Given the description of an element on the screen output the (x, y) to click on. 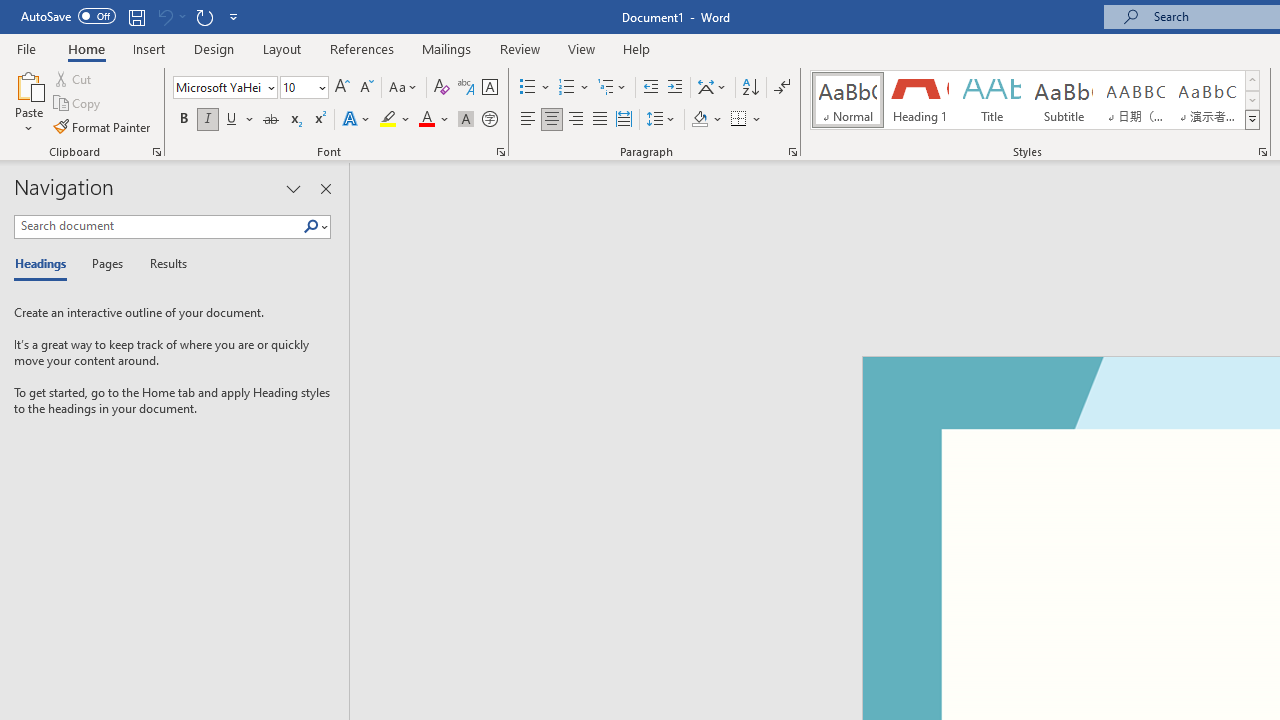
Font Color Red (426, 119)
Repeat Doc Close (204, 15)
